Given the description of an element on the screen output the (x, y) to click on. 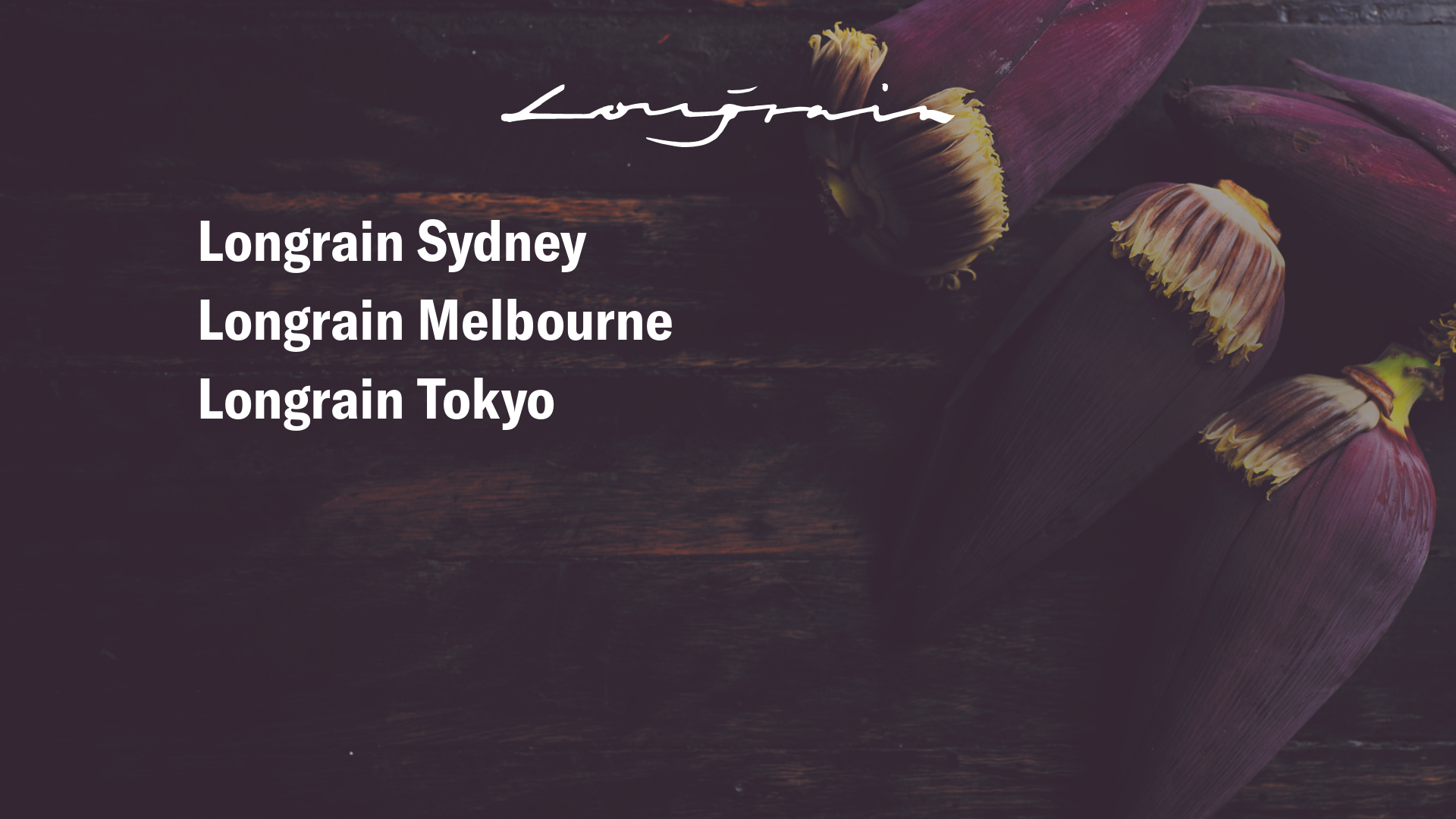
Longrain Tokyo Element type: text (376, 397)
Longrain Melbourne Element type: text (435, 318)
